Given the description of an element on the screen output the (x, y) to click on. 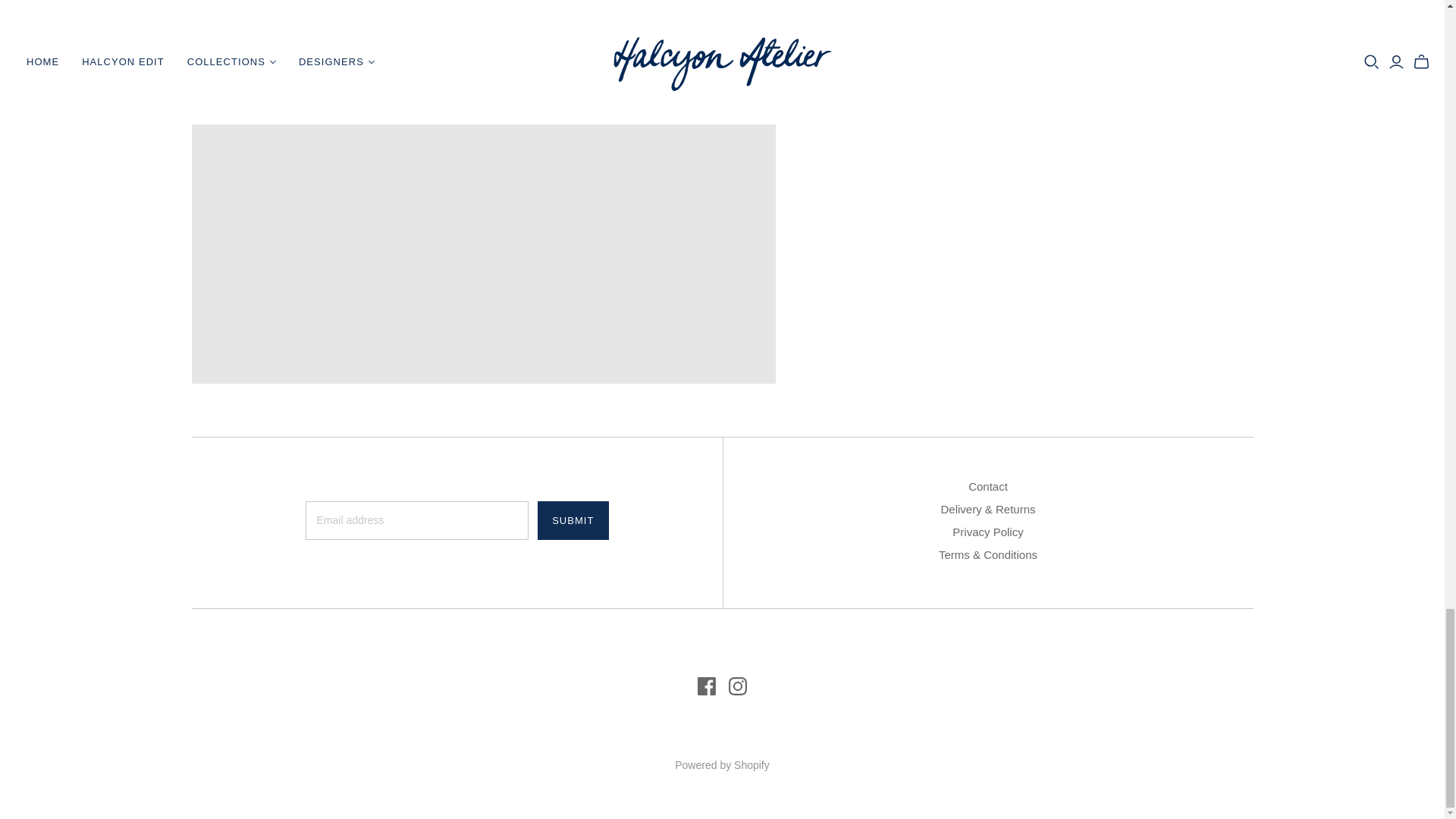
Instagram Icon (737, 686)
Submit (572, 520)
Facebook Icon (706, 686)
